Given the description of an element on the screen output the (x, y) to click on. 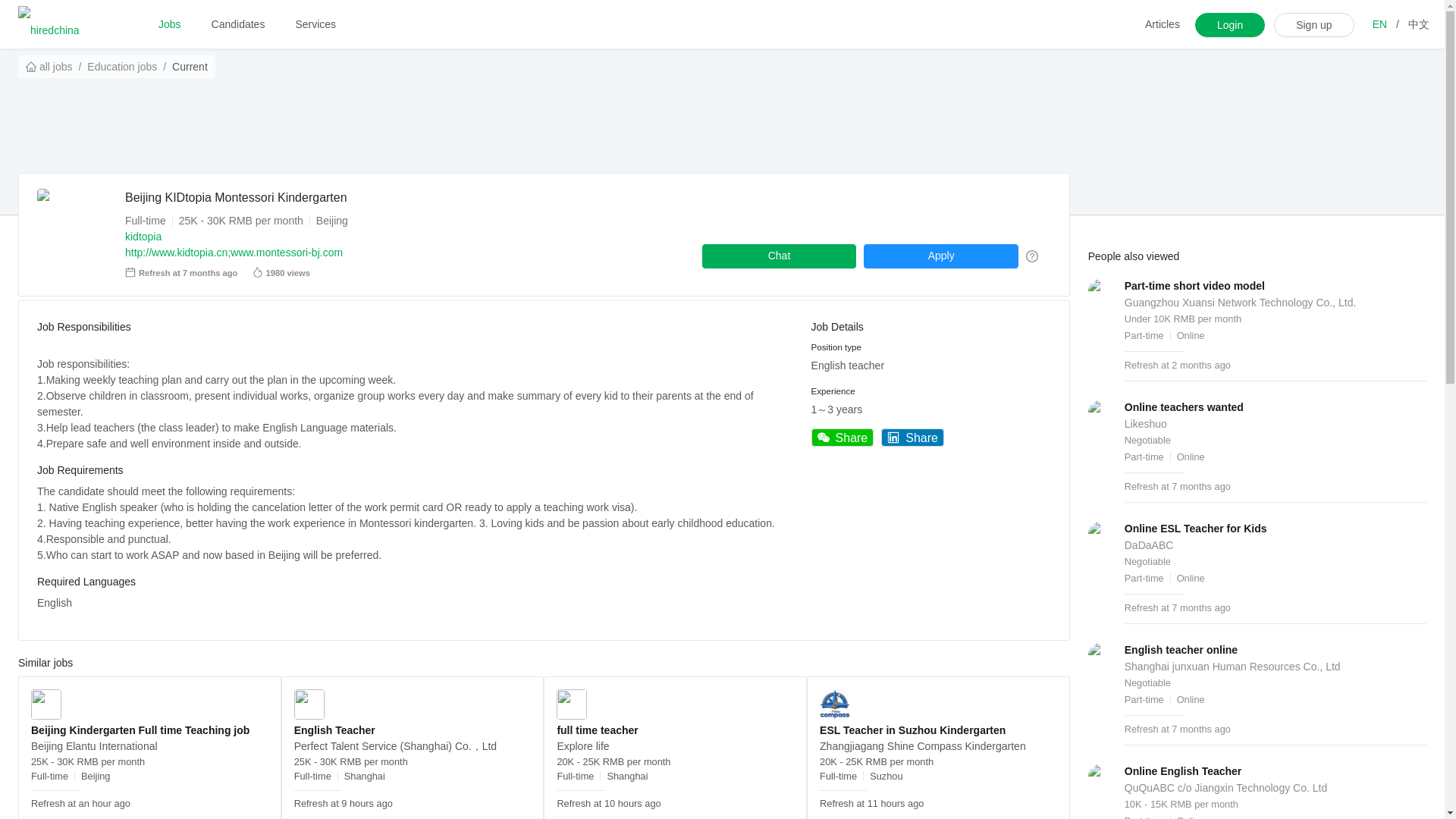
Candidates (237, 24)
Sign up (1314, 24)
Chat (779, 256)
all jobs (48, 66)
Login (1230, 24)
Share (911, 437)
Login (1230, 24)
Education jobs (122, 66)
